Given the description of an element on the screen output the (x, y) to click on. 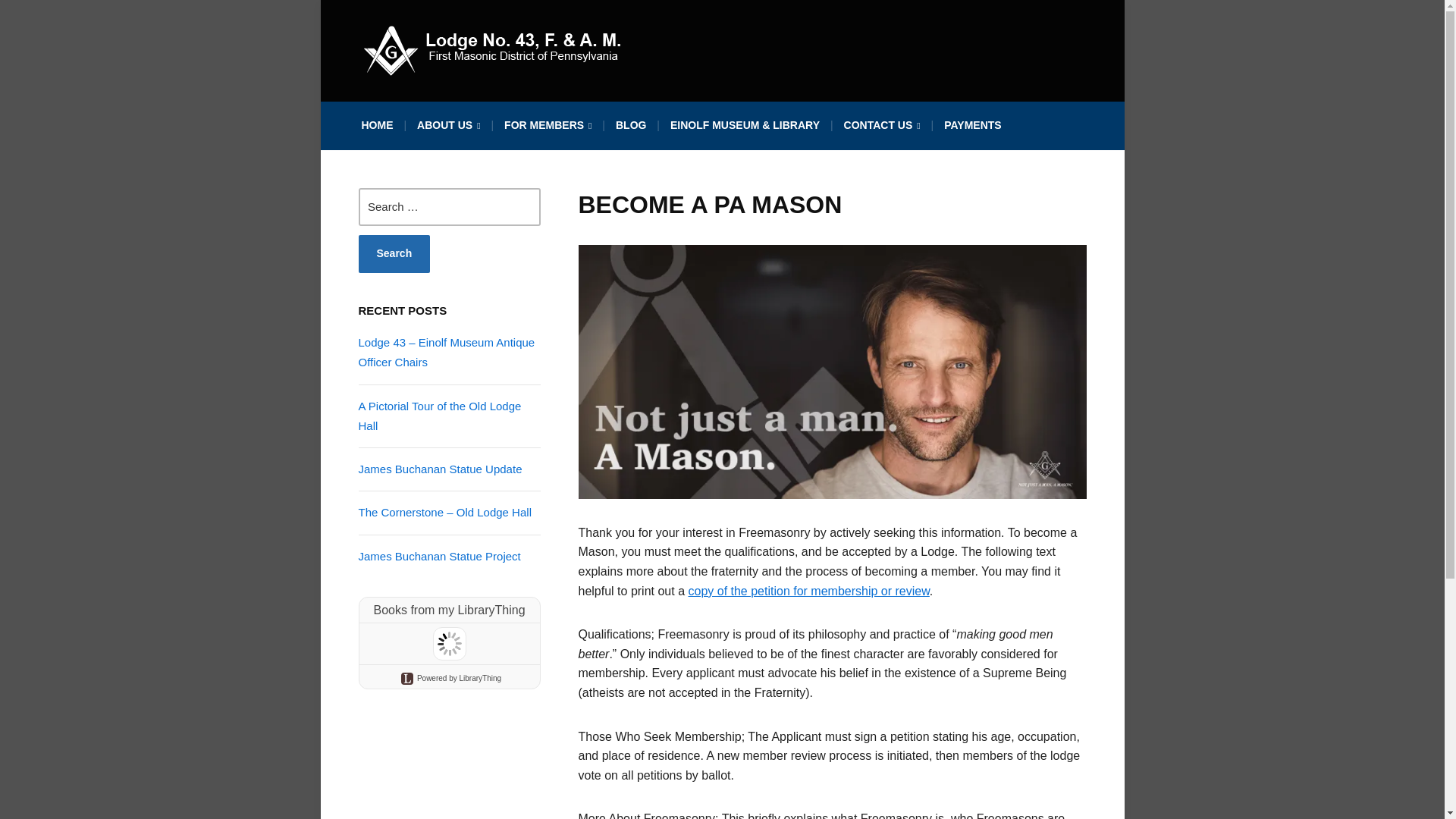
HOME (377, 129)
Search (393, 253)
ABOUT US (448, 129)
Search (393, 253)
